Given the description of an element on the screen output the (x, y) to click on. 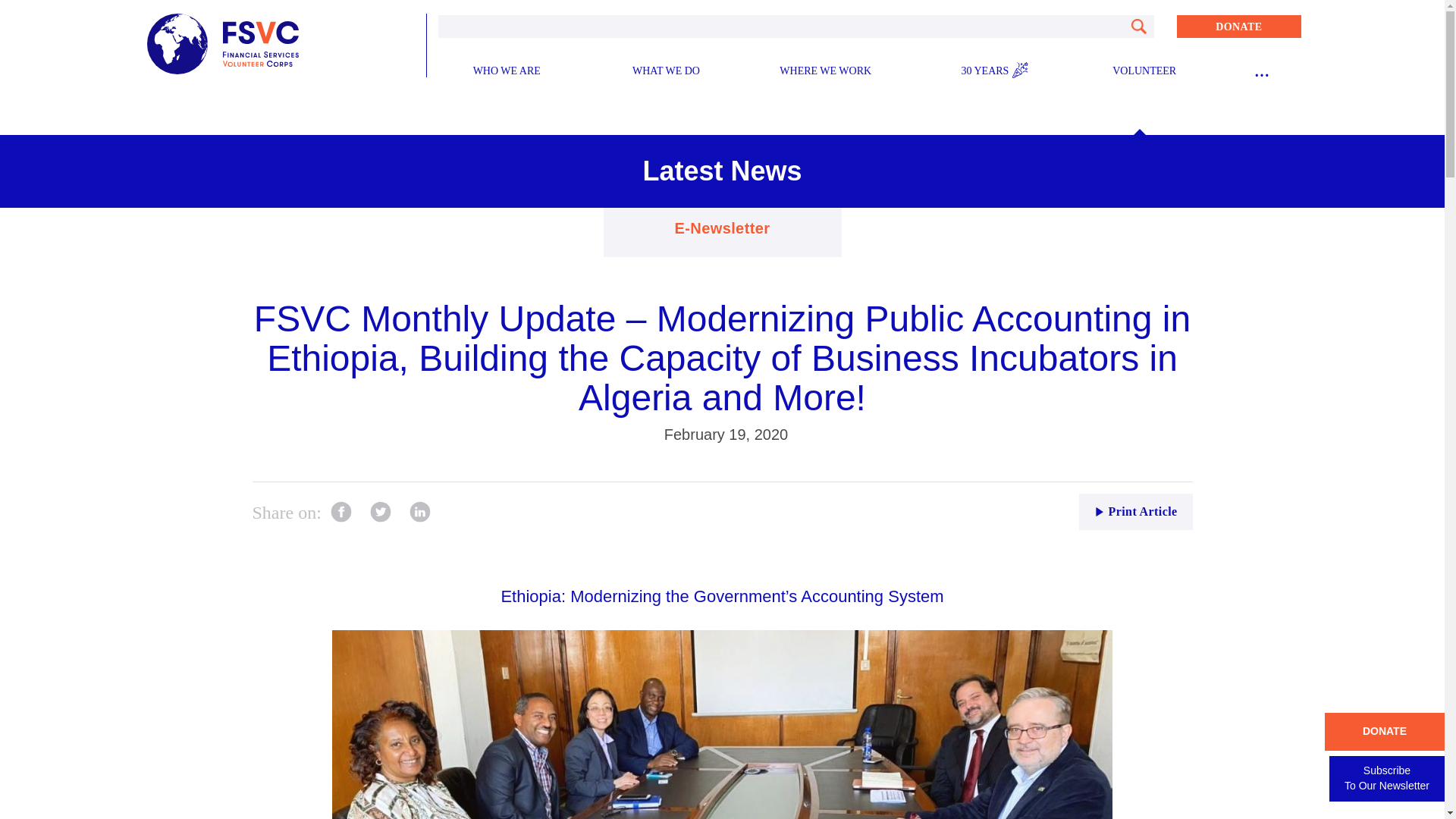
DONATE (1238, 26)
30 YEARS (984, 70)
WHO WE ARE (506, 70)
E-Newsletter (722, 228)
WHERE WE WORK (825, 70)
WHAT WE DO (665, 70)
VOLUNTEER (1144, 70)
